Given the description of an element on the screen output the (x, y) to click on. 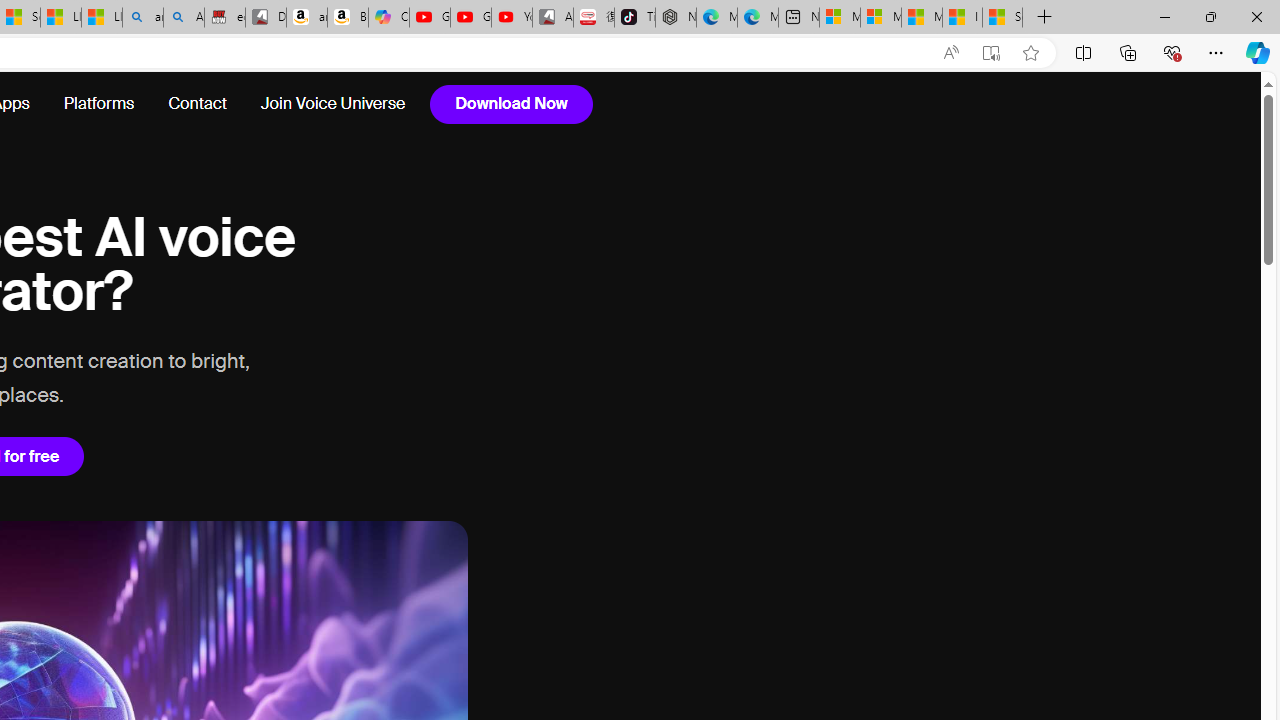
Copilot (388, 17)
Download Now (511, 103)
amazon.in/dp/B0CX59H5W7/?tag=gsmcom05-21 (306, 17)
Join Voice Universe (324, 103)
